Given the description of an element on the screen output the (x, y) to click on. 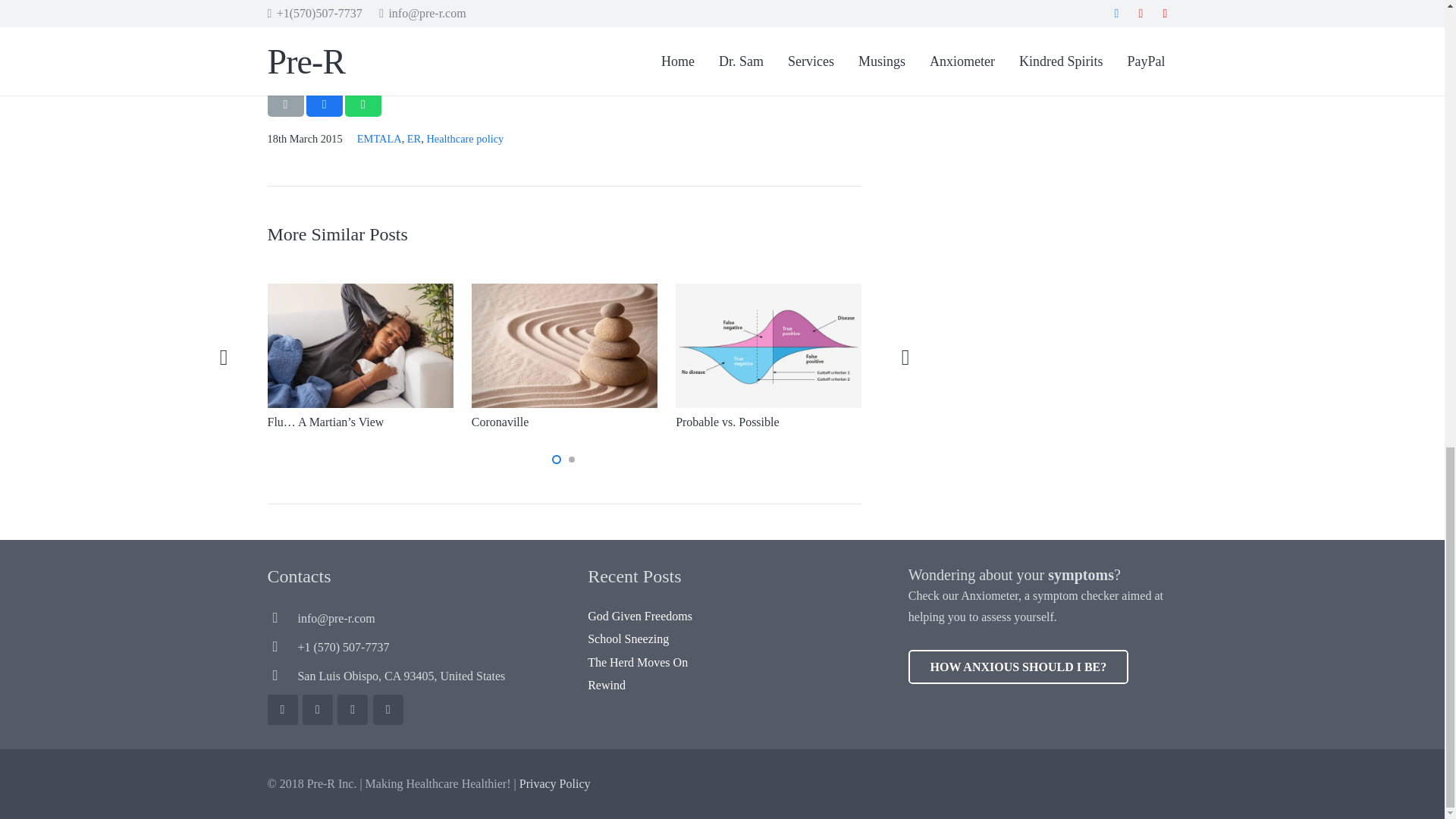
LinkedIn (387, 709)
YouTube (352, 709)
Probable vs. Possible (726, 421)
Email this (284, 104)
Share this (363, 104)
Healthcare policy (464, 138)
Facebook (281, 709)
Coronaville (500, 421)
Yelp (317, 709)
Share this (323, 104)
